Given the description of an element on the screen output the (x, y) to click on. 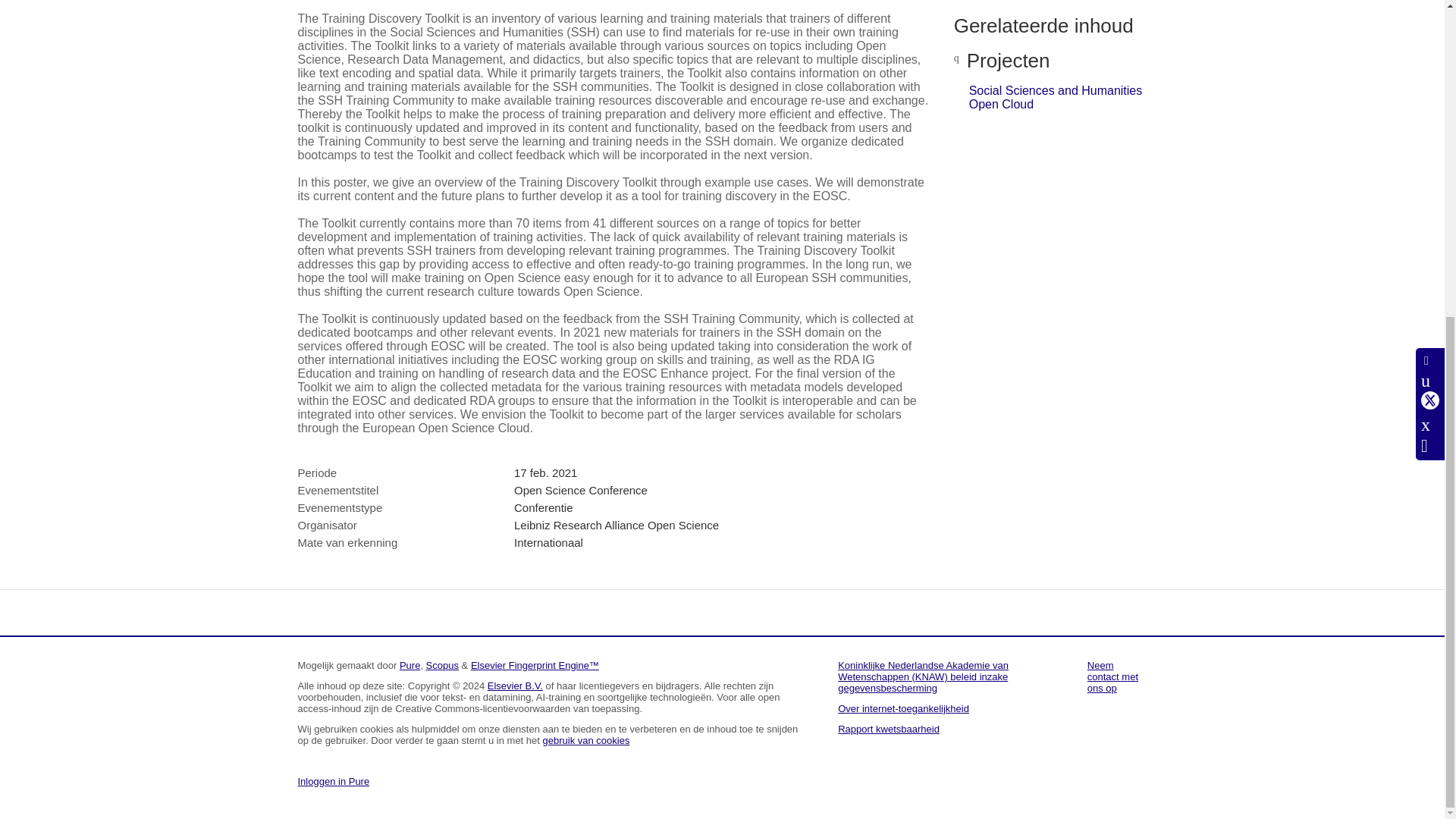
Elsevier B.V. (515, 685)
Social Sciences and Humanities Open Cloud (1055, 97)
Scopus (442, 665)
Over internet-toegankelijkheid (903, 708)
Neem contact met ons op (1112, 676)
Pure (409, 665)
gebruik van cookies (586, 740)
Inloggen in Pure (333, 781)
Rapport kwetsbaarheid (888, 728)
